Given the description of an element on the screen output the (x, y) to click on. 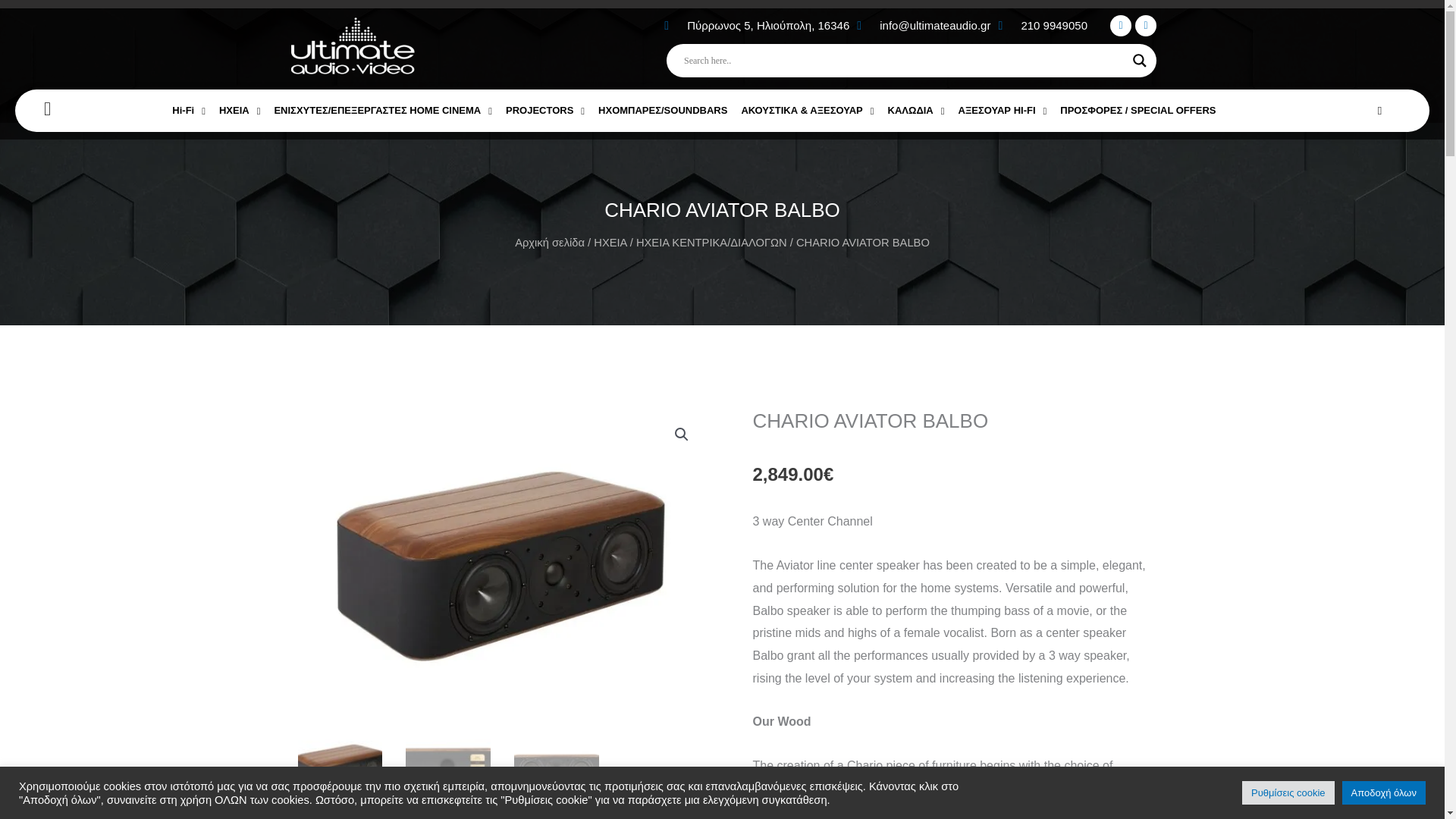
Facebook (1120, 25)
0065556001627052560 (501, 561)
Hi-Fi (188, 110)
210 9949050 (1042, 25)
Instagram (1145, 25)
